Given the description of an element on the screen output the (x, y) to click on. 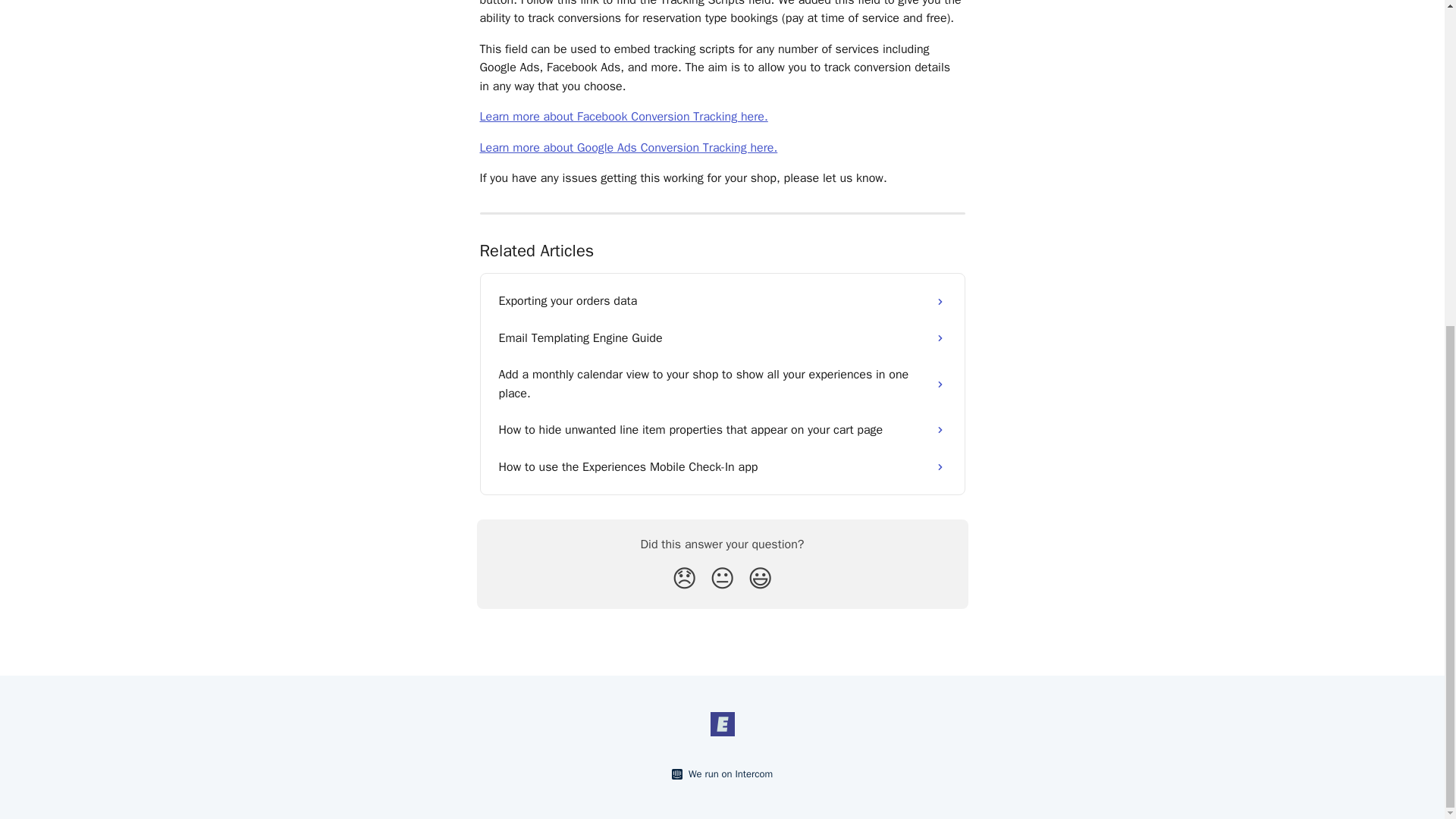
Learn more about Google Ads Conversion Tracking here. (628, 147)
Learn more about Facebook Conversion Tracking here. (623, 116)
Email Templating Engine Guide (722, 338)
Exporting your orders data (722, 300)
We run on Intercom (727, 774)
How to use the Experiences Mobile Check-In app (722, 466)
